Given the description of an element on the screen output the (x, y) to click on. 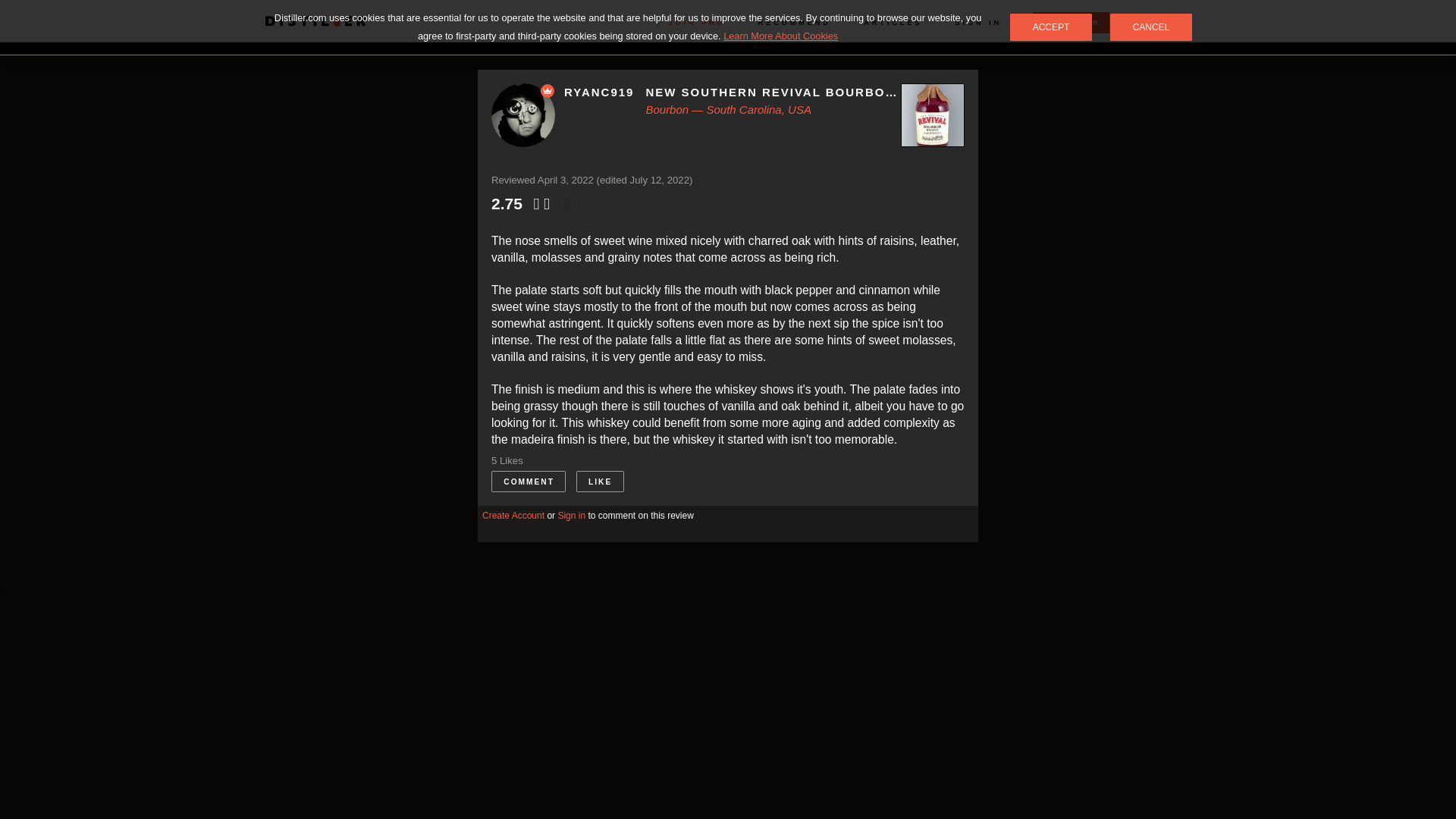
JOIN PRO (690, 22)
Learn More About Cookies (780, 35)
ARTICLES (892, 22)
SIGN IN (978, 22)
ACCEPT (1051, 26)
CANCEL (1150, 26)
REGISTER (1070, 22)
RECOMMEND (794, 22)
